Given the description of an element on the screen output the (x, y) to click on. 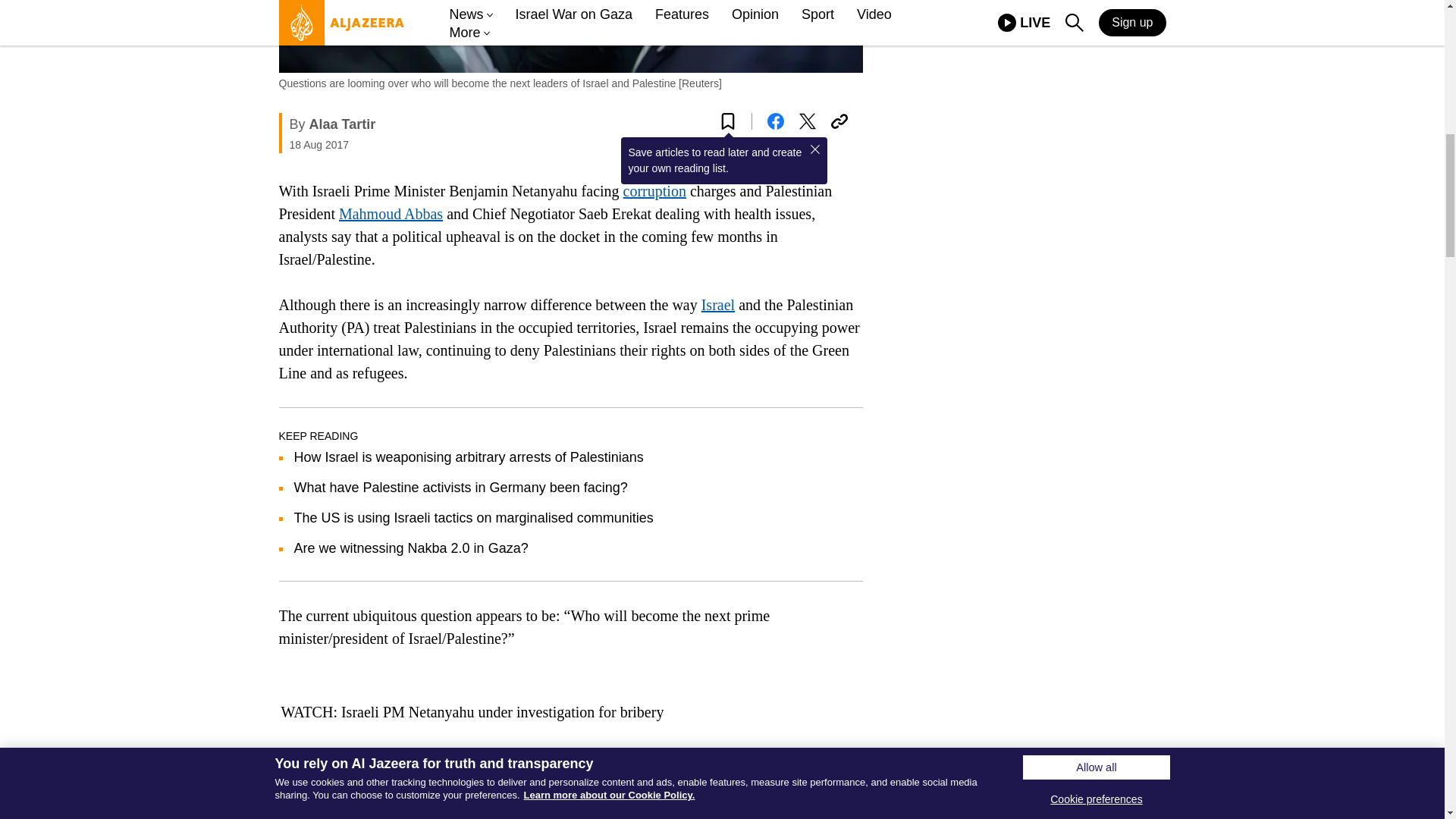
copylink (839, 121)
facebook (775, 121)
facebook (775, 121)
Close Tooltip (814, 149)
twitter (807, 121)
Alaa Tartir (341, 124)
copylink (839, 121)
twitter (807, 121)
